Given the description of an element on the screen output the (x, y) to click on. 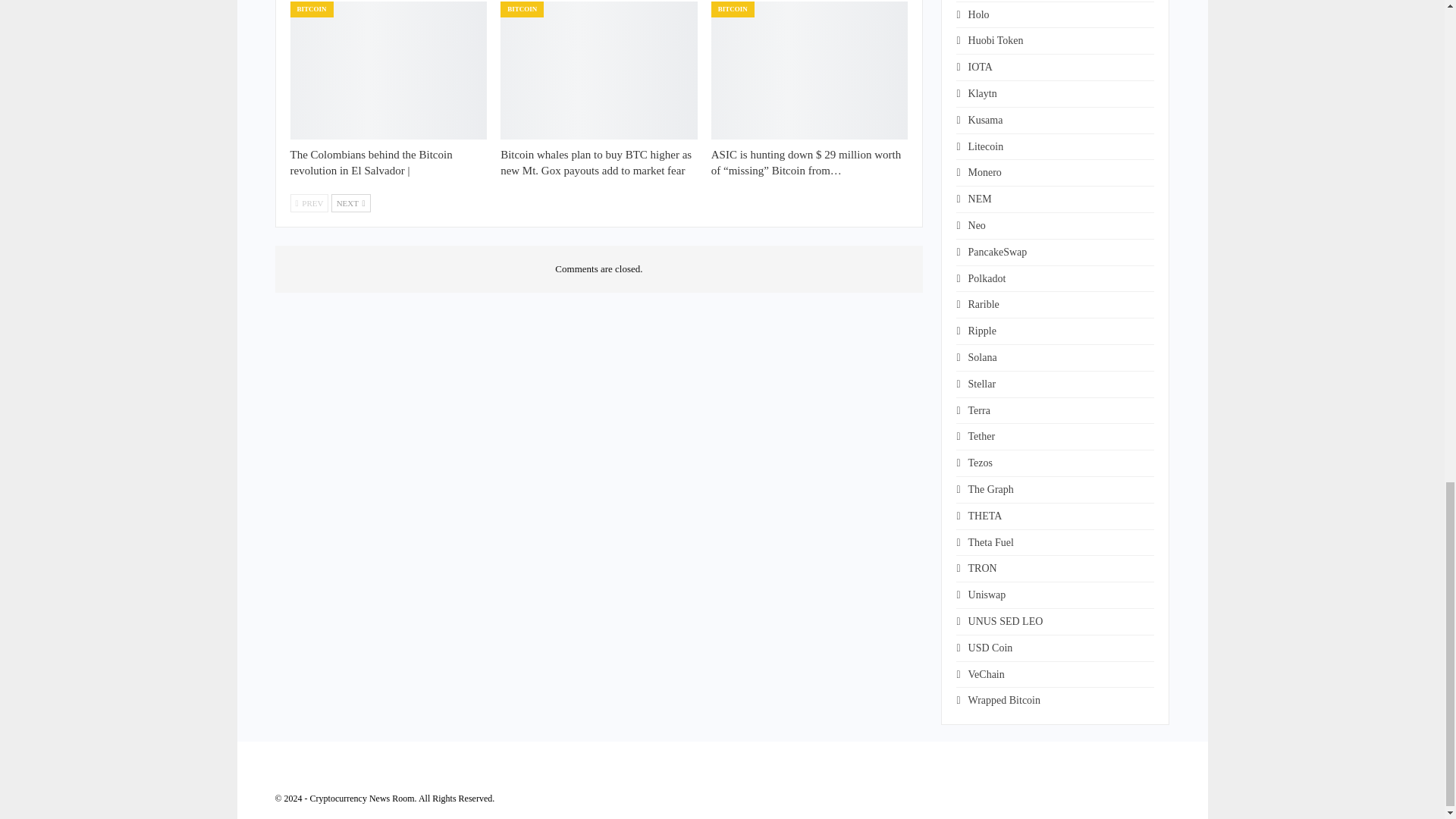
Previous (309, 203)
